Given the description of an element on the screen output the (x, y) to click on. 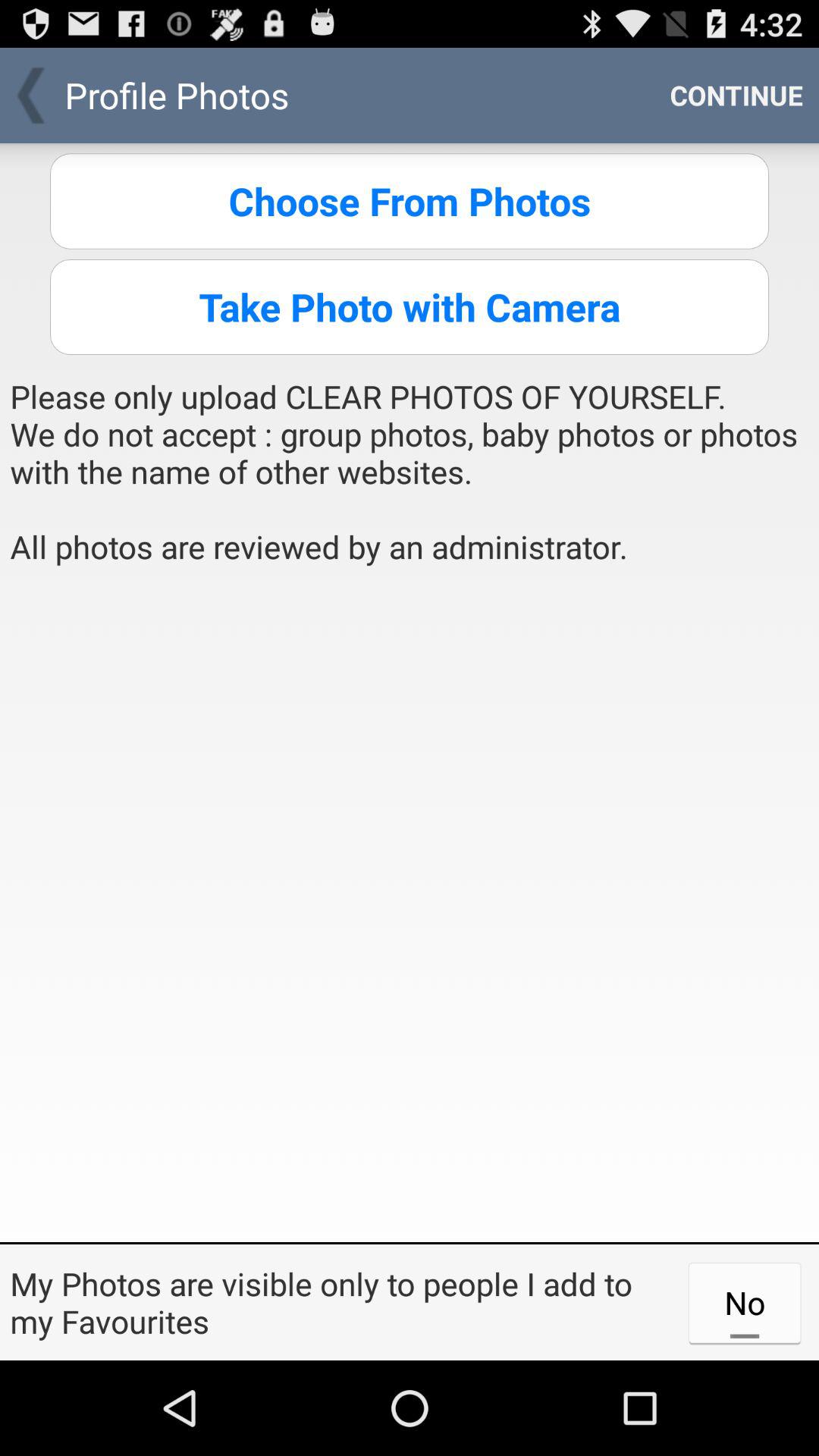
tap item at the bottom right corner (744, 1302)
